Given the description of an element on the screen output the (x, y) to click on. 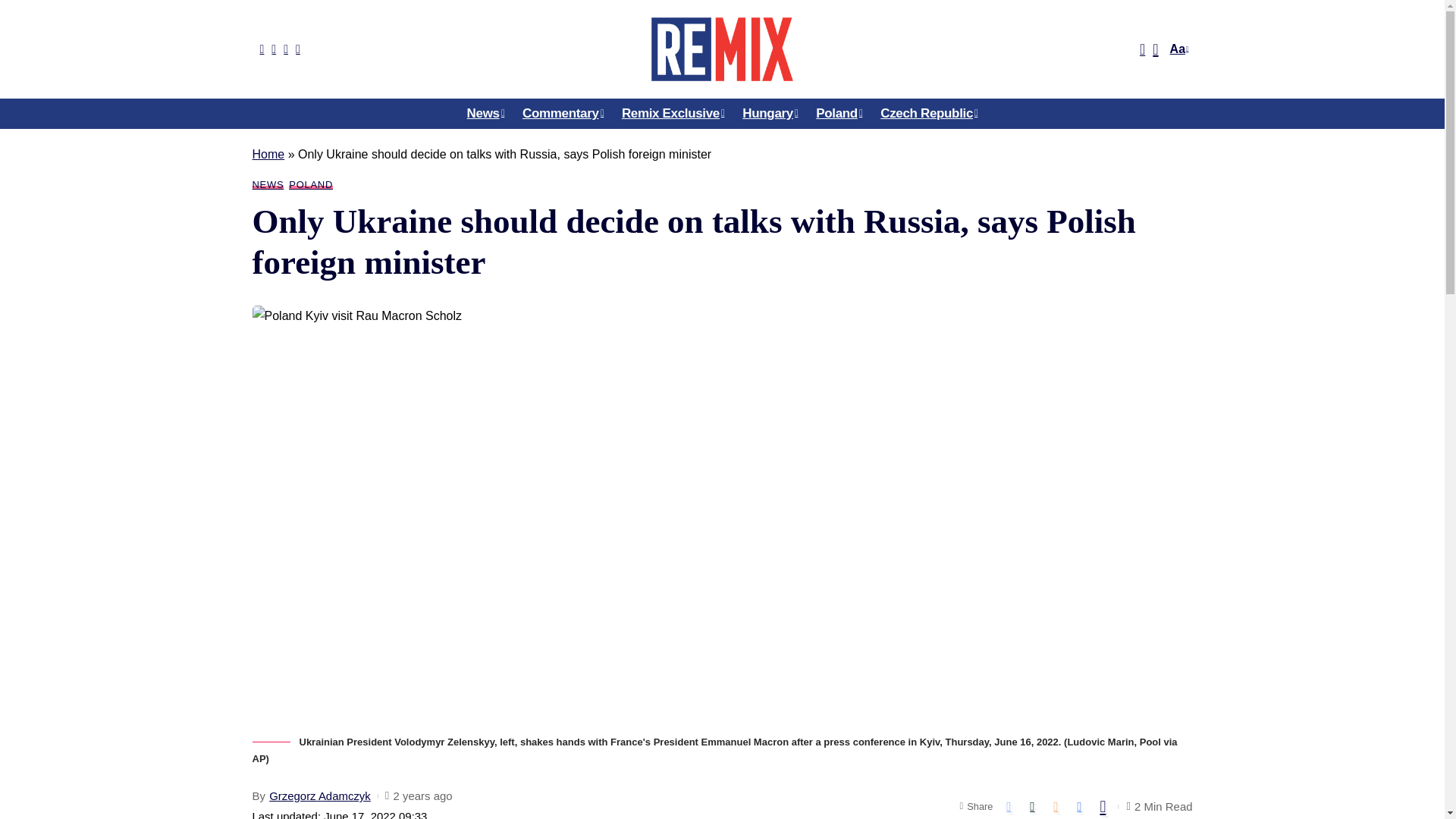
Remix Exclusive (672, 113)
Remix News (721, 48)
Aa (1177, 48)
News (485, 113)
Commentary (562, 113)
